Given the description of an element on the screen output the (x, y) to click on. 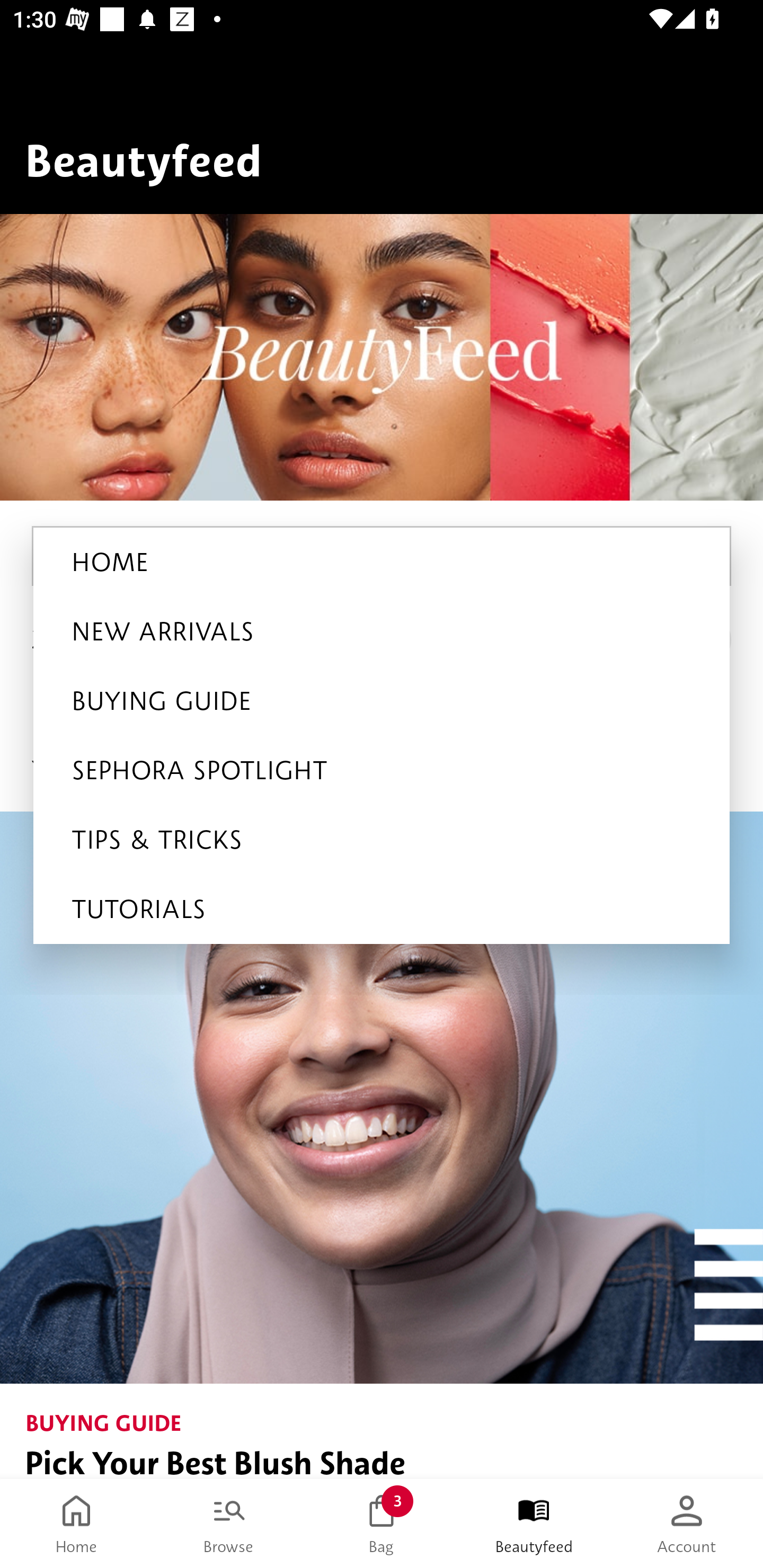
HOME (381, 561)
NEW ARRIVALS (381, 631)
BUYING GUIDE (381, 700)
SEPHORA SPOTLIGHT (381, 770)
TIPS & TRICKS (381, 839)
TUTORIALS (381, 908)
